Given the description of an element on the screen output the (x, y) to click on. 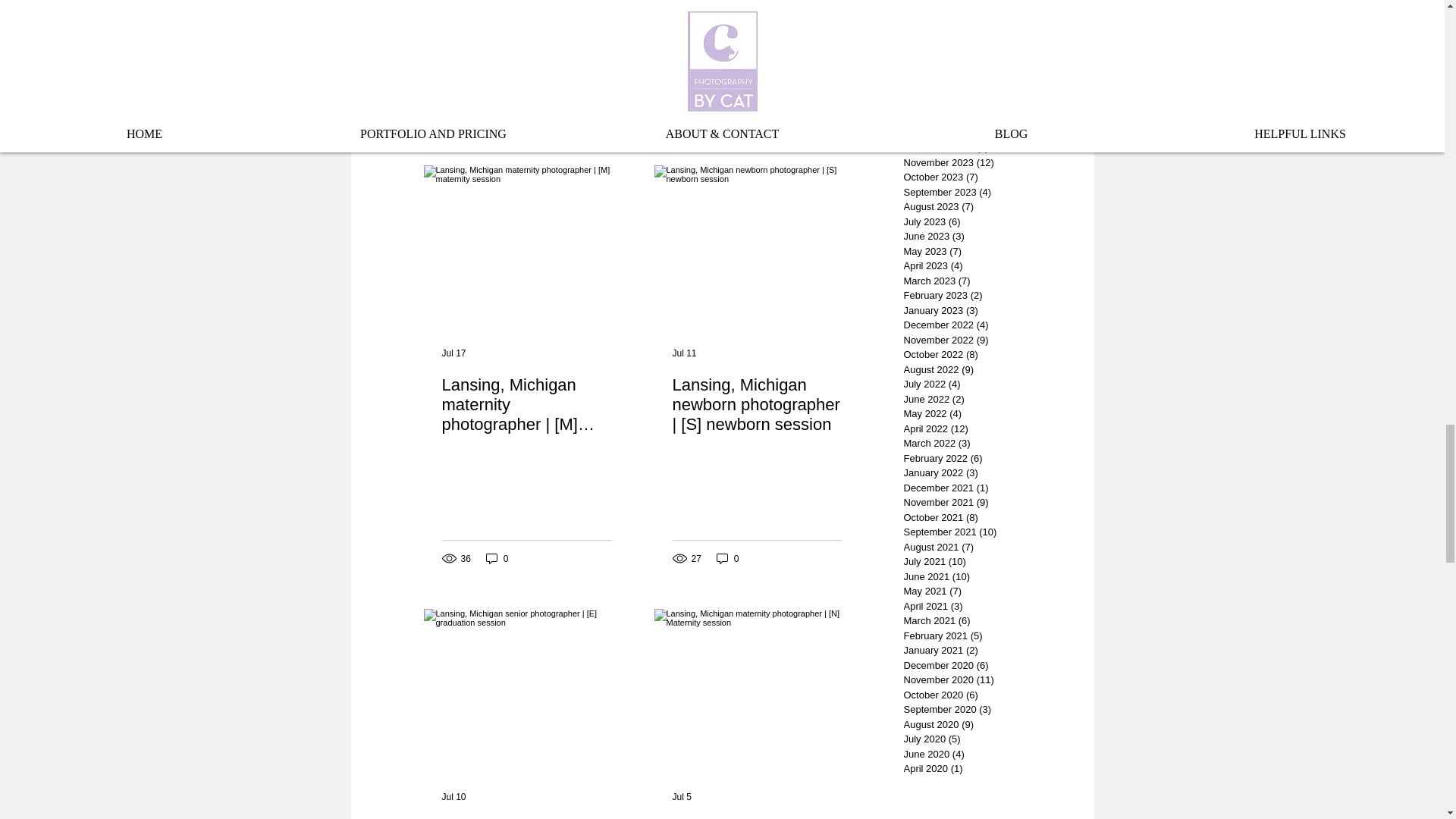
Jul 10 (453, 796)
Jul 5 (680, 796)
0 (497, 558)
0 (727, 558)
Jul 17 (453, 353)
Jul 11 (683, 353)
